Given the description of an element on the screen output the (x, y) to click on. 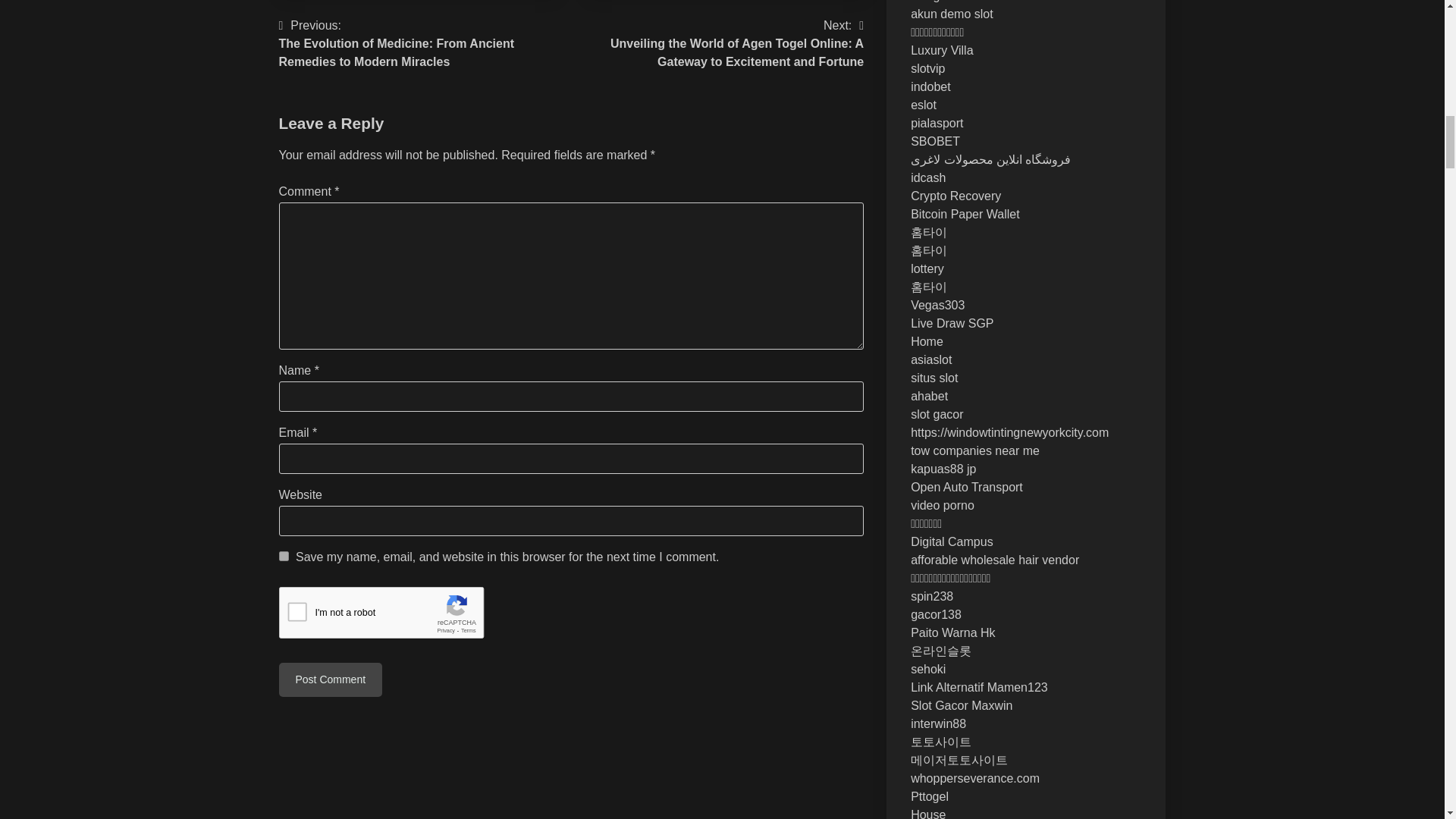
Post Comment (330, 679)
Post Comment (330, 679)
yes (283, 556)
reCAPTCHA (394, 616)
